Given the description of an element on the screen output the (x, y) to click on. 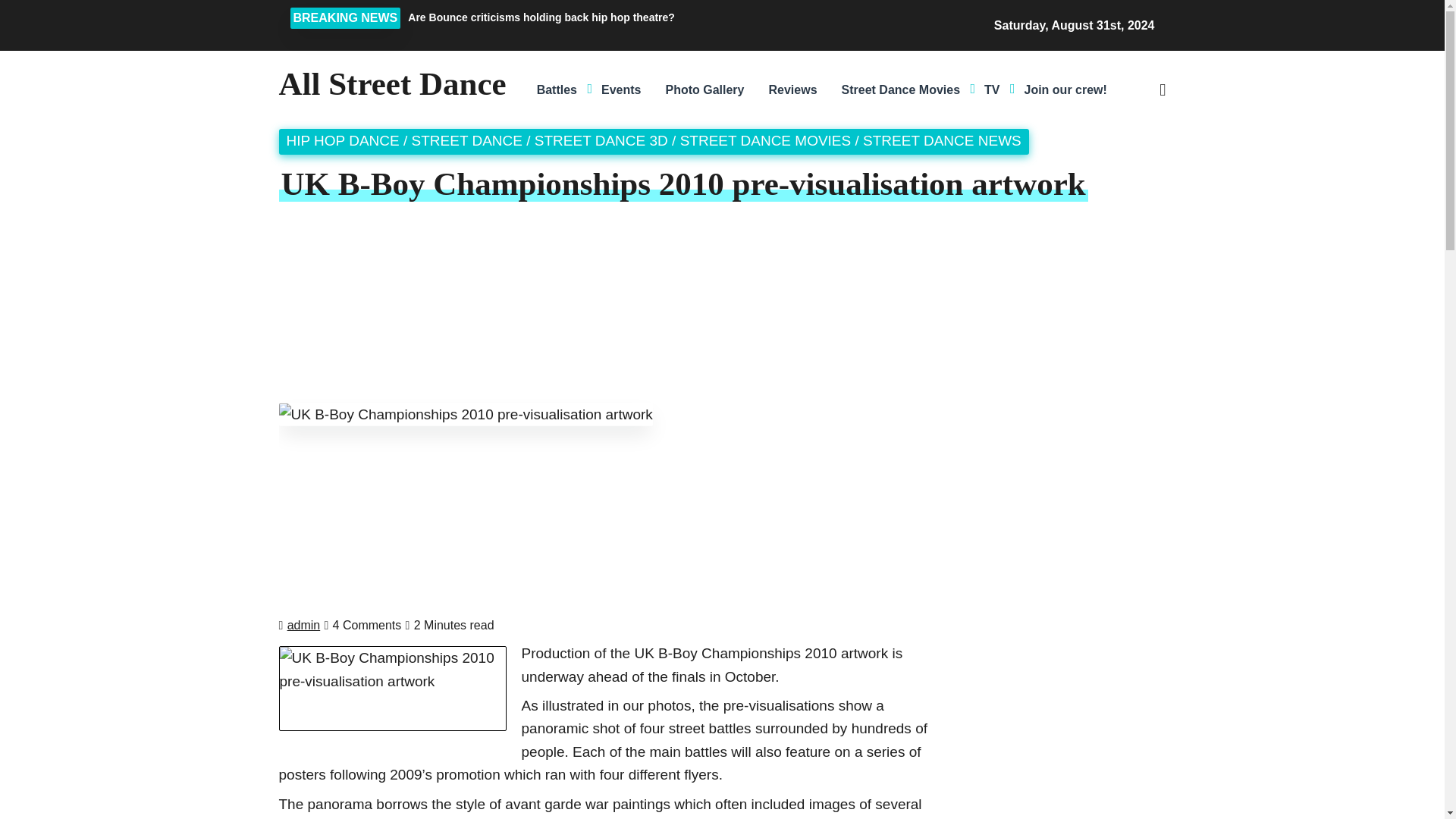
Street Dance Movies (900, 89)
Battles (556, 89)
Events (620, 89)
Photo Gallery (703, 89)
Are Bounce criticisms holding back hip hop theatre? (633, 17)
Reviews (791, 89)
uk-b-boy-championships-2010-pre-visualisation (392, 688)
All Street Dance (392, 83)
